Given the description of an element on the screen output the (x, y) to click on. 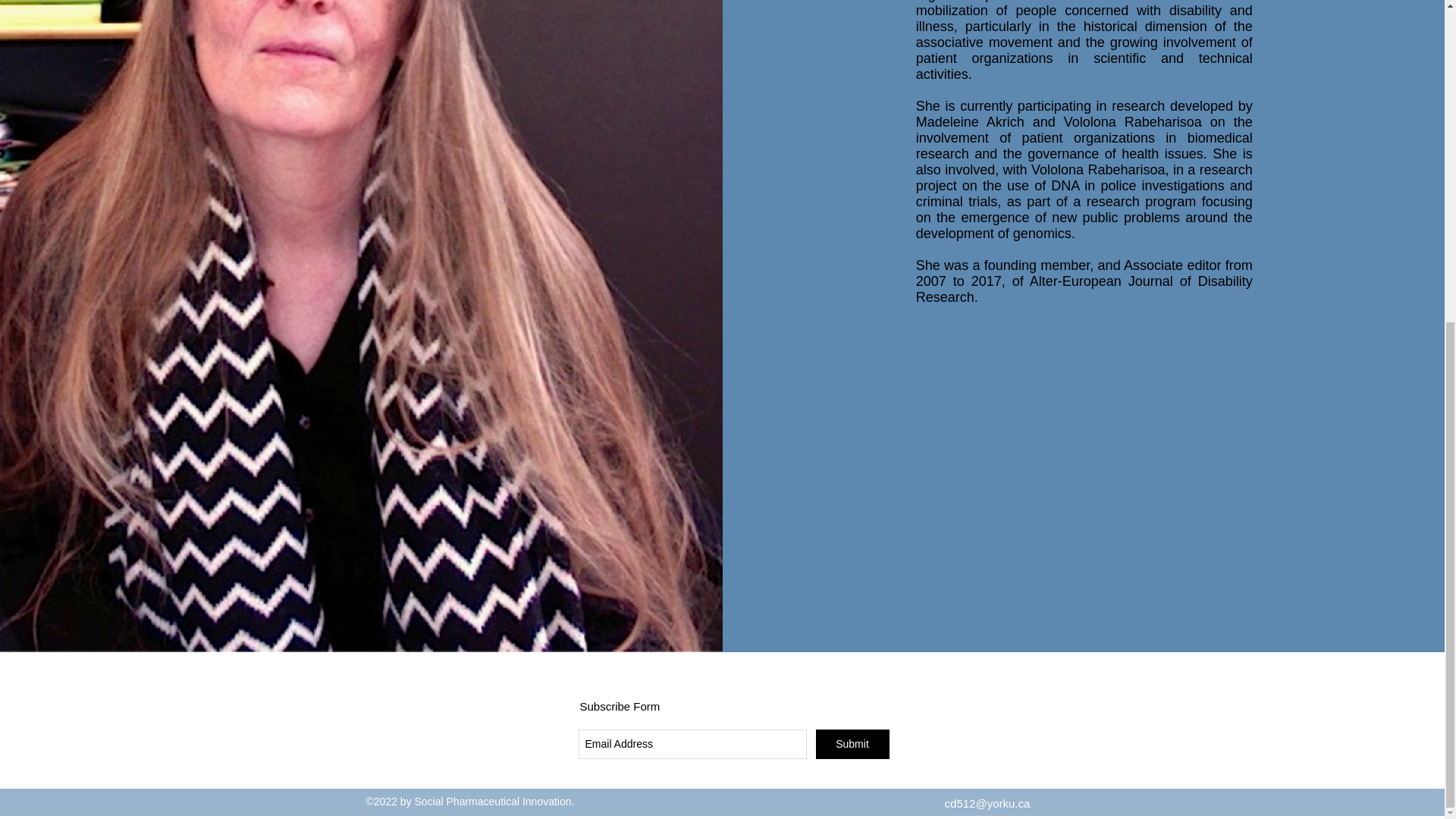
Submit (852, 744)
